Given the description of an element on the screen output the (x, y) to click on. 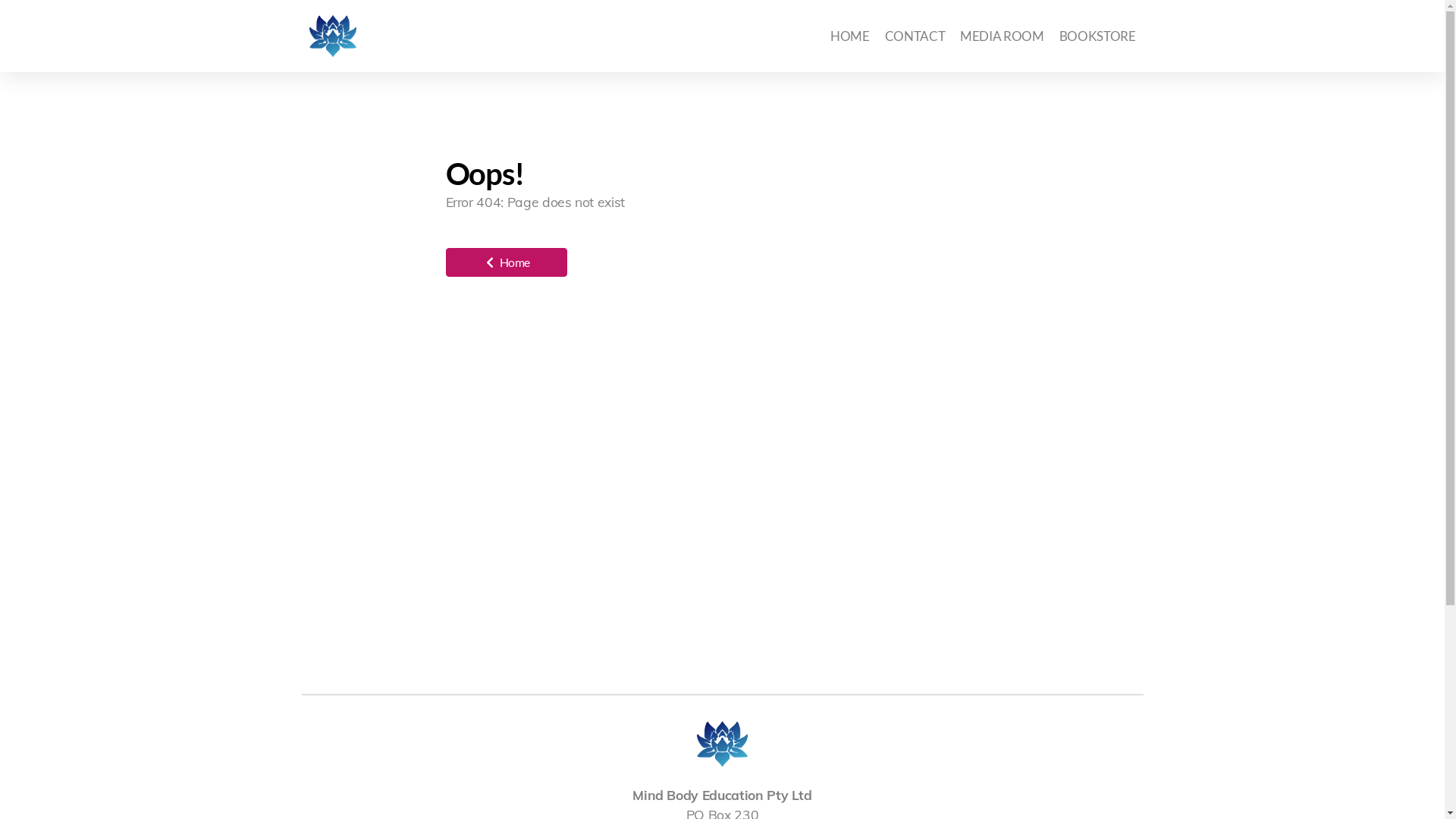
Home Element type: text (506, 261)
HOME Element type: text (849, 35)
MEDIA ROOM Element type: text (1001, 35)
CONTACT Element type: text (915, 35)
BOOKSTORE Element type: text (1097, 35)
